Given the description of an element on the screen output the (x, y) to click on. 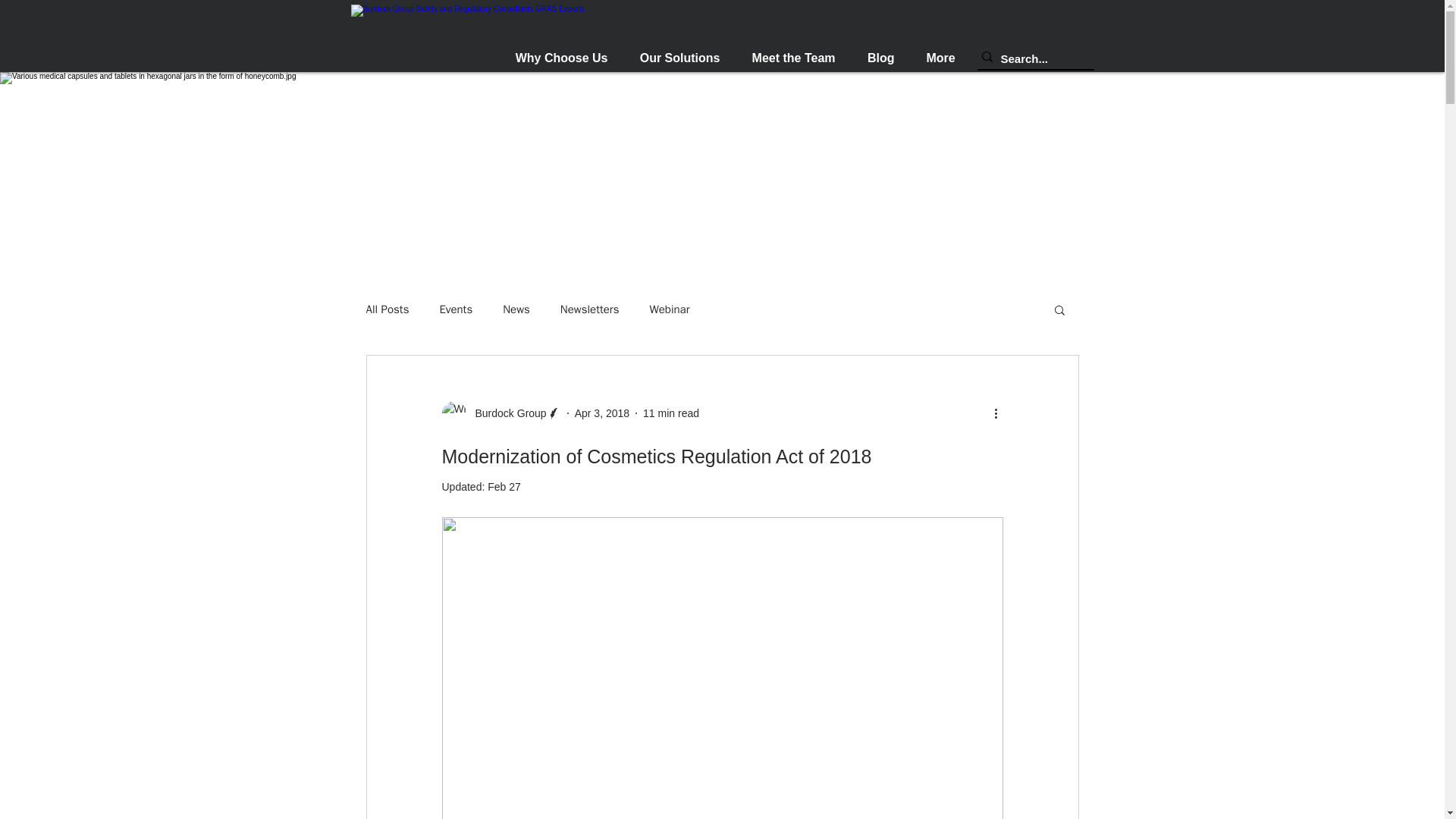
All Posts (387, 309)
Newsletters (590, 309)
Webinar (668, 309)
Events (455, 309)
Burdock Group (500, 413)
Meet the Team (792, 57)
Why Choose Us (561, 57)
Blog (880, 57)
Feb 27 (504, 486)
11 min read (670, 412)
